Given the description of an element on the screen output the (x, y) to click on. 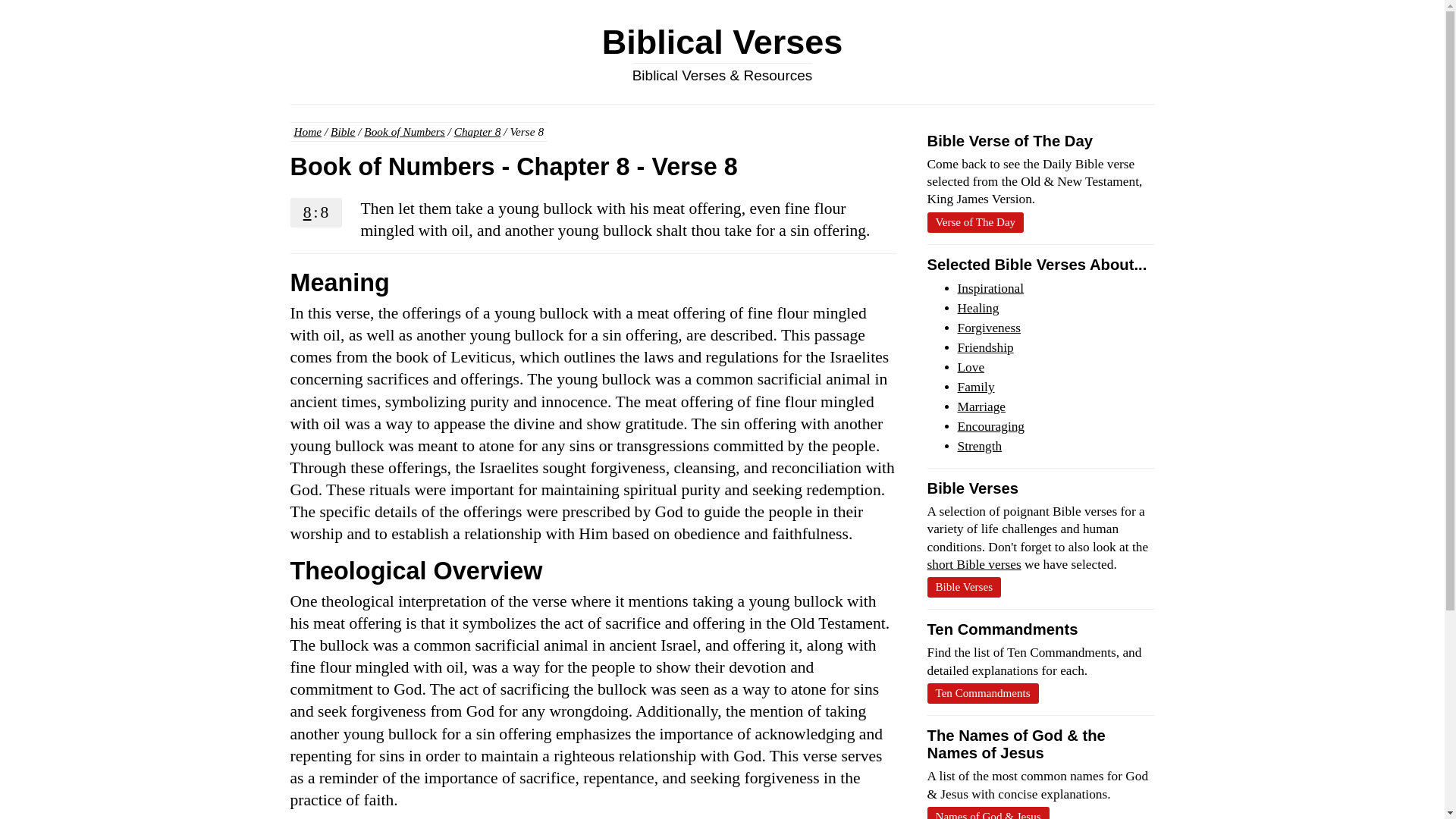
Ten Commandments (982, 693)
Marriage (981, 406)
Verse of The Day (974, 222)
Biblical Verses (722, 41)
Love (970, 367)
Home (307, 131)
Friendship (984, 347)
short Bible verses (973, 564)
Chapter 8 (477, 131)
Book of Numbers (404, 131)
